Given the description of an element on the screen output the (x, y) to click on. 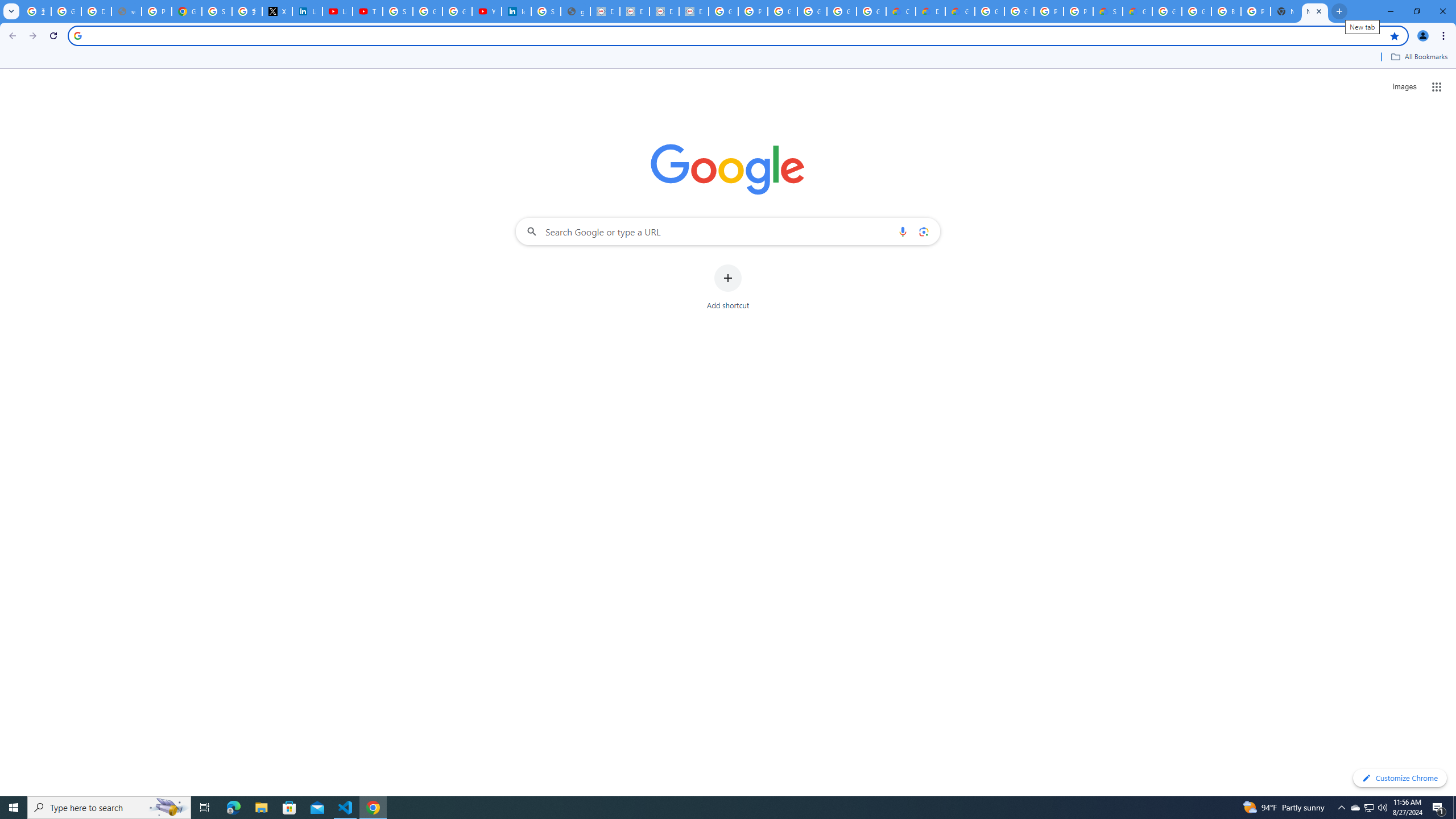
Google Cloud Platform (1196, 11)
Add shortcut (727, 287)
Google Cloud Platform (989, 11)
Data Privacy Framework (664, 11)
Data Privacy Framework (693, 11)
Customer Care | Google Cloud (900, 11)
Customize Chrome (1399, 778)
